Given the description of an element on the screen output the (x, y) to click on. 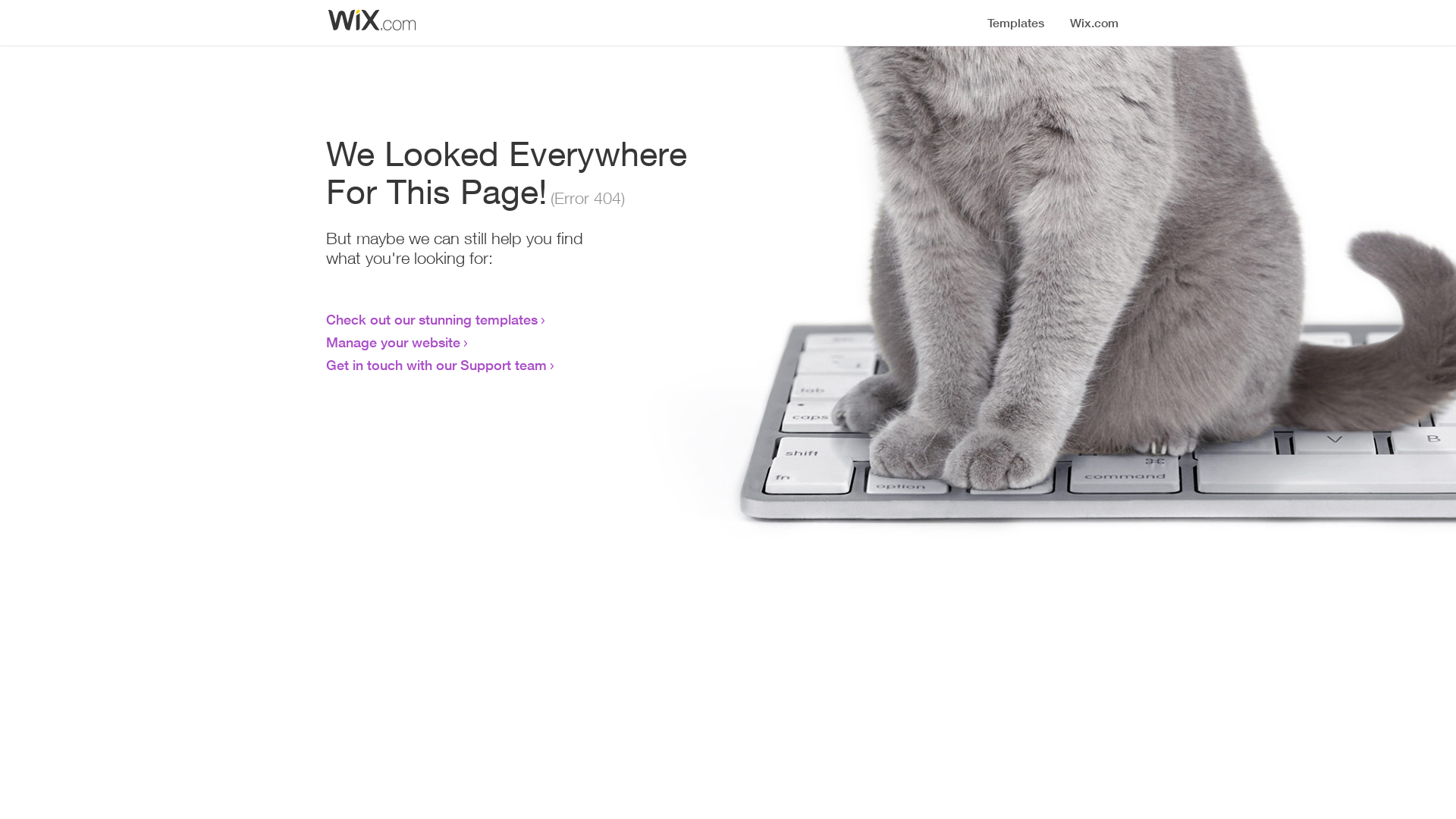
Check out our stunning templates Element type: text (431, 318)
Get in touch with our Support team Element type: text (436, 364)
Manage your website Element type: text (393, 341)
